Given the description of an element on the screen output the (x, y) to click on. 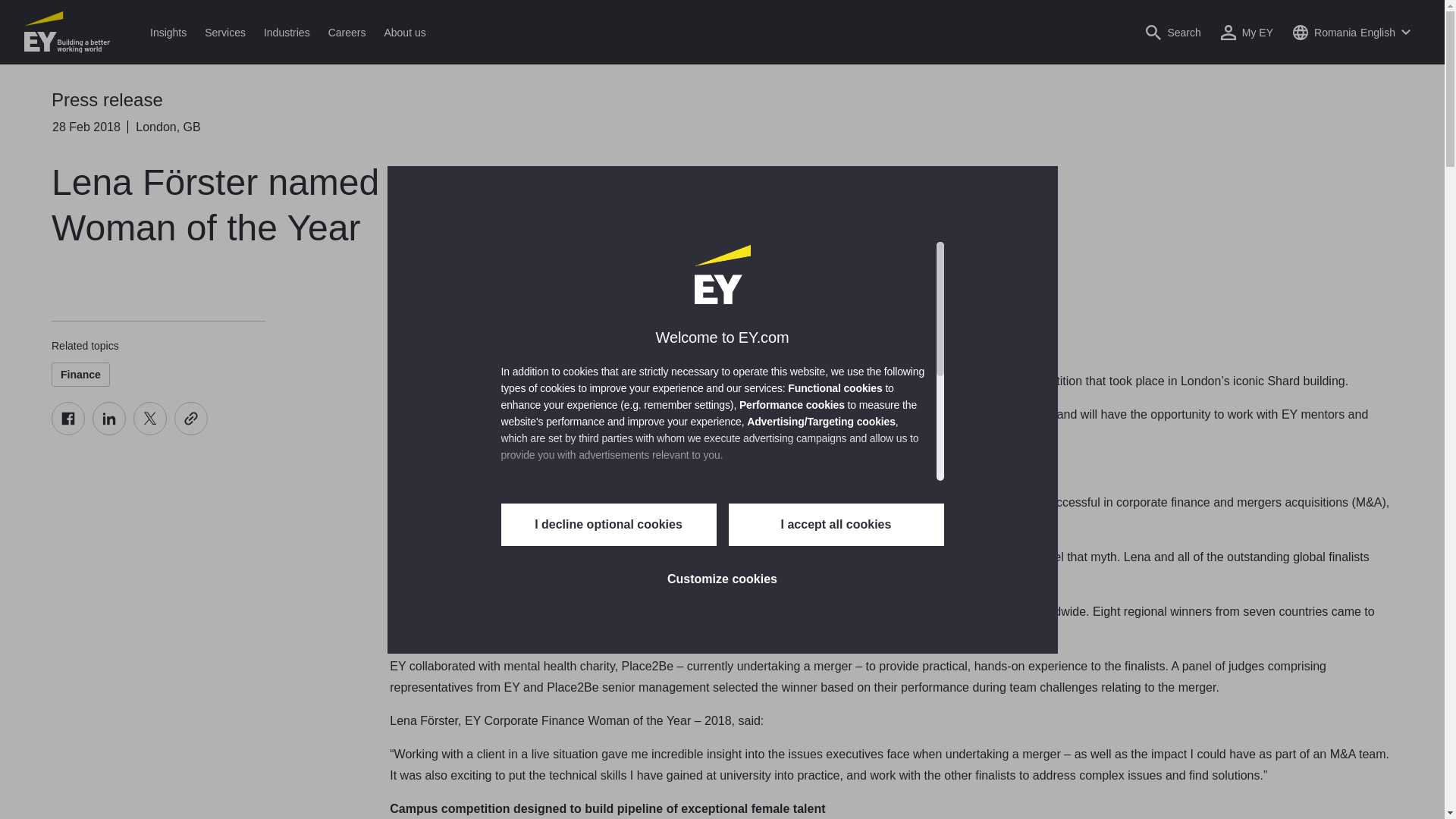
Facebook (67, 418)
Copy link (191, 418)
Linkedin (109, 418)
Open country language switcher (1350, 32)
Social Media Share (129, 418)
My EY (1246, 32)
Open search (1172, 32)
EY Homepage (67, 32)
